Given the description of an element on the screen output the (x, y) to click on. 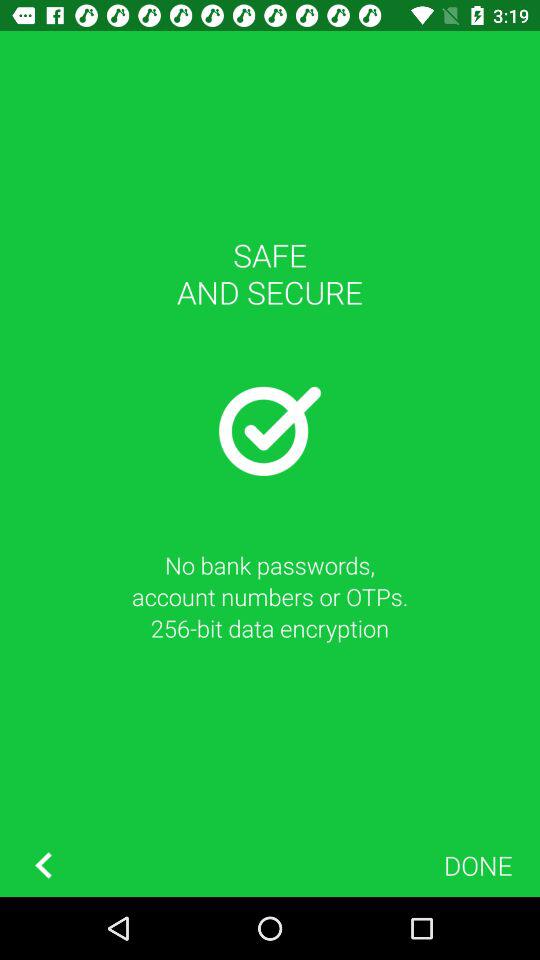
turn off done item (478, 864)
